Given the description of an element on the screen output the (x, y) to click on. 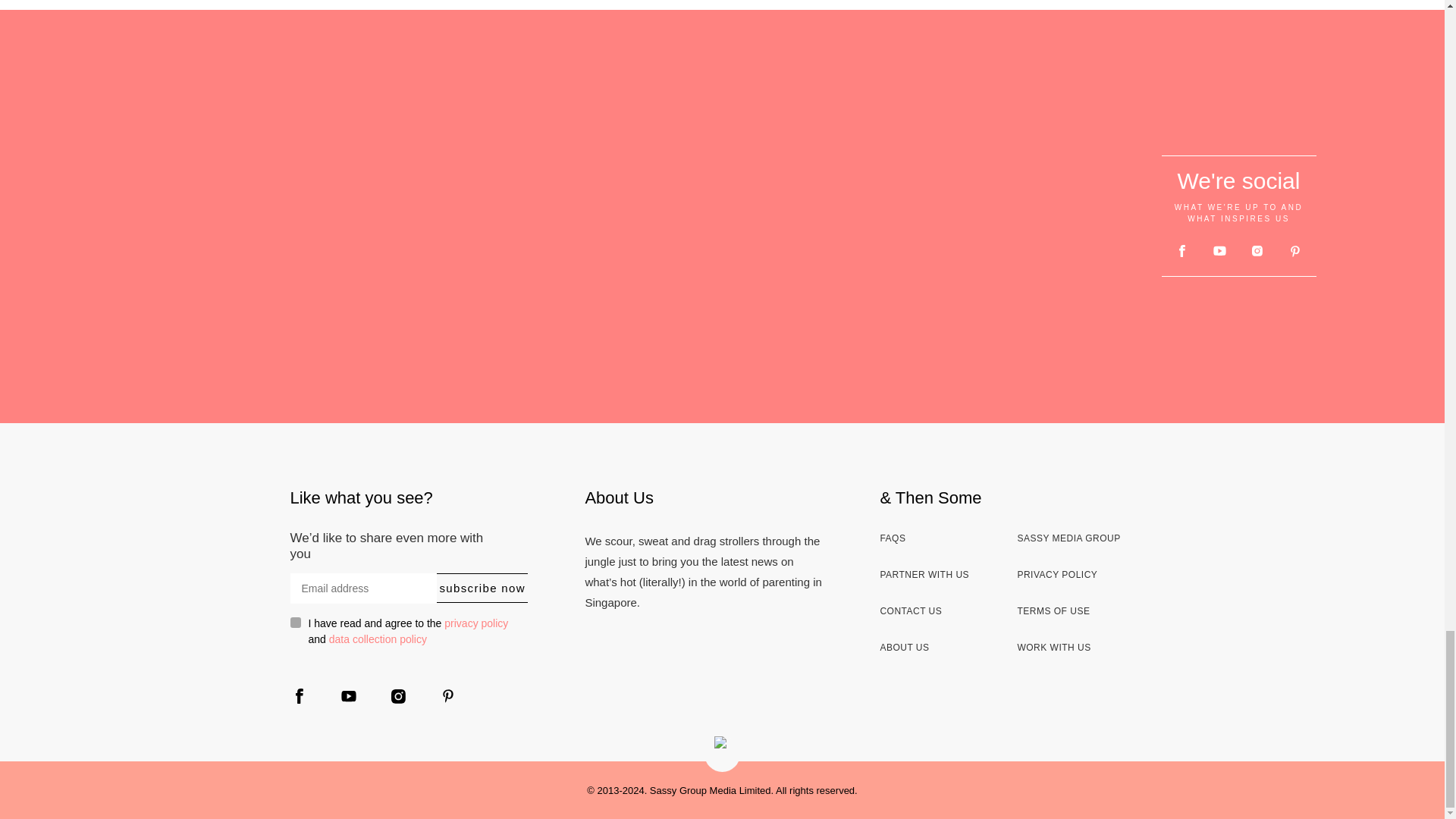
subscribe now (481, 587)
on (294, 622)
Sassy Mama Facebook Page (1182, 250)
Sassy Mama Youtube (1218, 250)
